Given the description of an element on the screen output the (x, y) to click on. 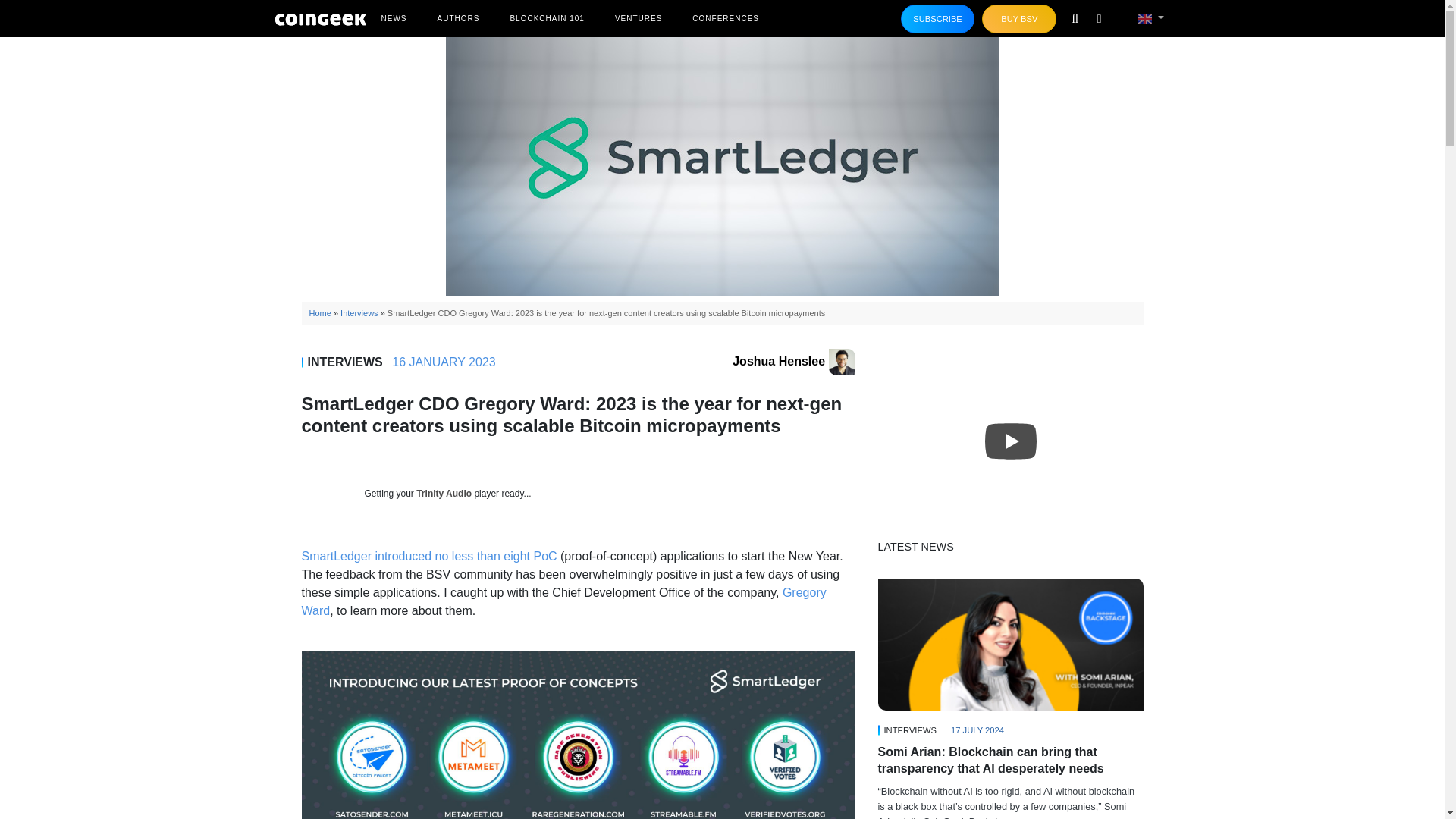
BLOCKCHAIN 101 (546, 18)
CONFERENCES (725, 18)
SUBSCRIBE (938, 18)
AUTHORS (457, 18)
Joshua Henslee (793, 360)
BUY BSV (1019, 18)
Never miss an update again! Subscribe to Newsletter! (938, 18)
Home (319, 312)
Gregory Ward (564, 601)
Trinity Audio (443, 493)
SmartLedger introduced no less than eight PoC (429, 555)
Interviews (359, 312)
VENTURES (638, 18)
